Given the description of an element on the screen output the (x, y) to click on. 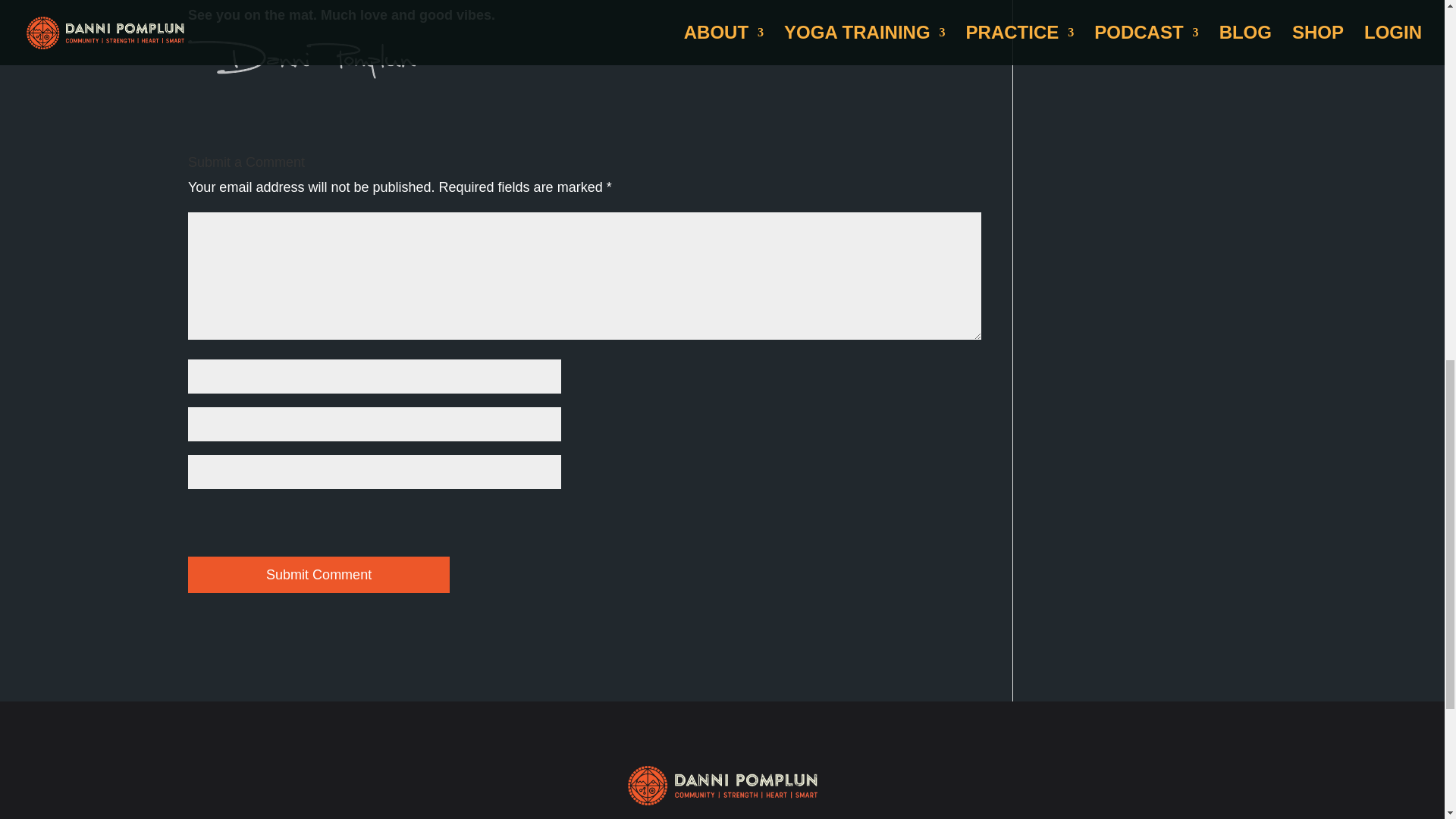
Submit Comment (318, 574)
